Given the description of an element on the screen output the (x, y) to click on. 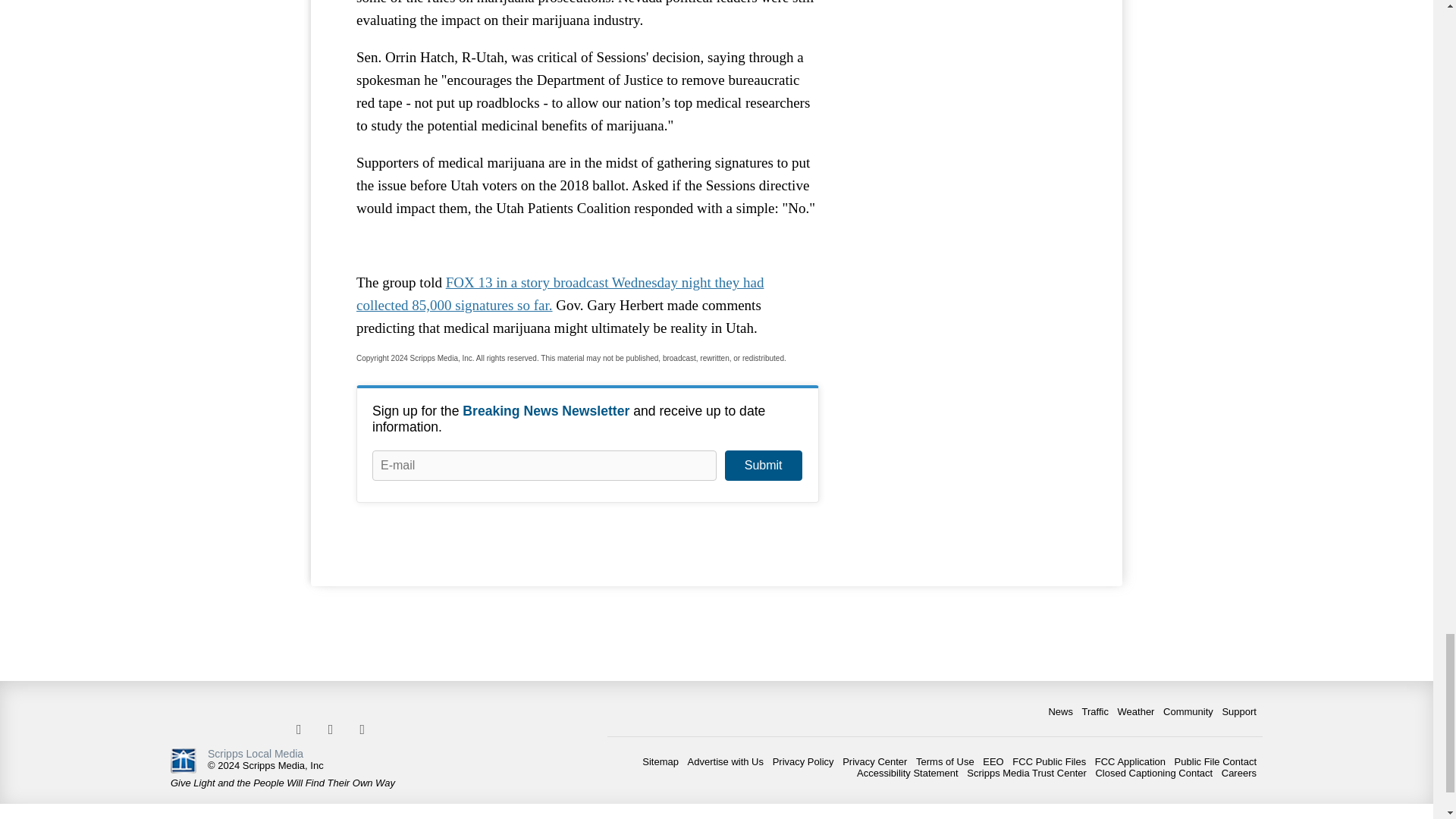
Submit (763, 465)
